Given the description of an element on the screen output the (x, y) to click on. 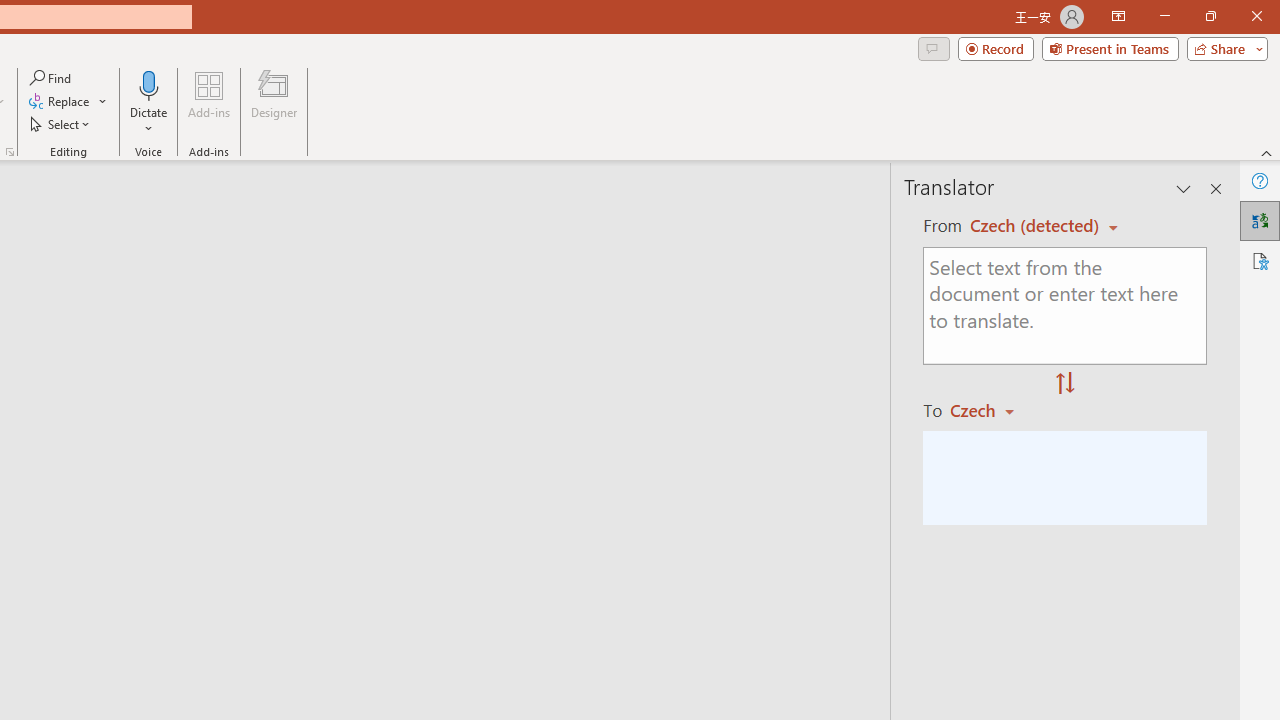
Share (1223, 48)
Minimize (1164, 16)
Close (1256, 16)
Collapse the Ribbon (1267, 152)
Restore Down (1210, 16)
More Options (149, 121)
Record (995, 48)
Replace... (60, 101)
Designer (274, 102)
Czech (detected) (1037, 225)
Dictate (149, 102)
